Given the description of an element on the screen output the (x, y) to click on. 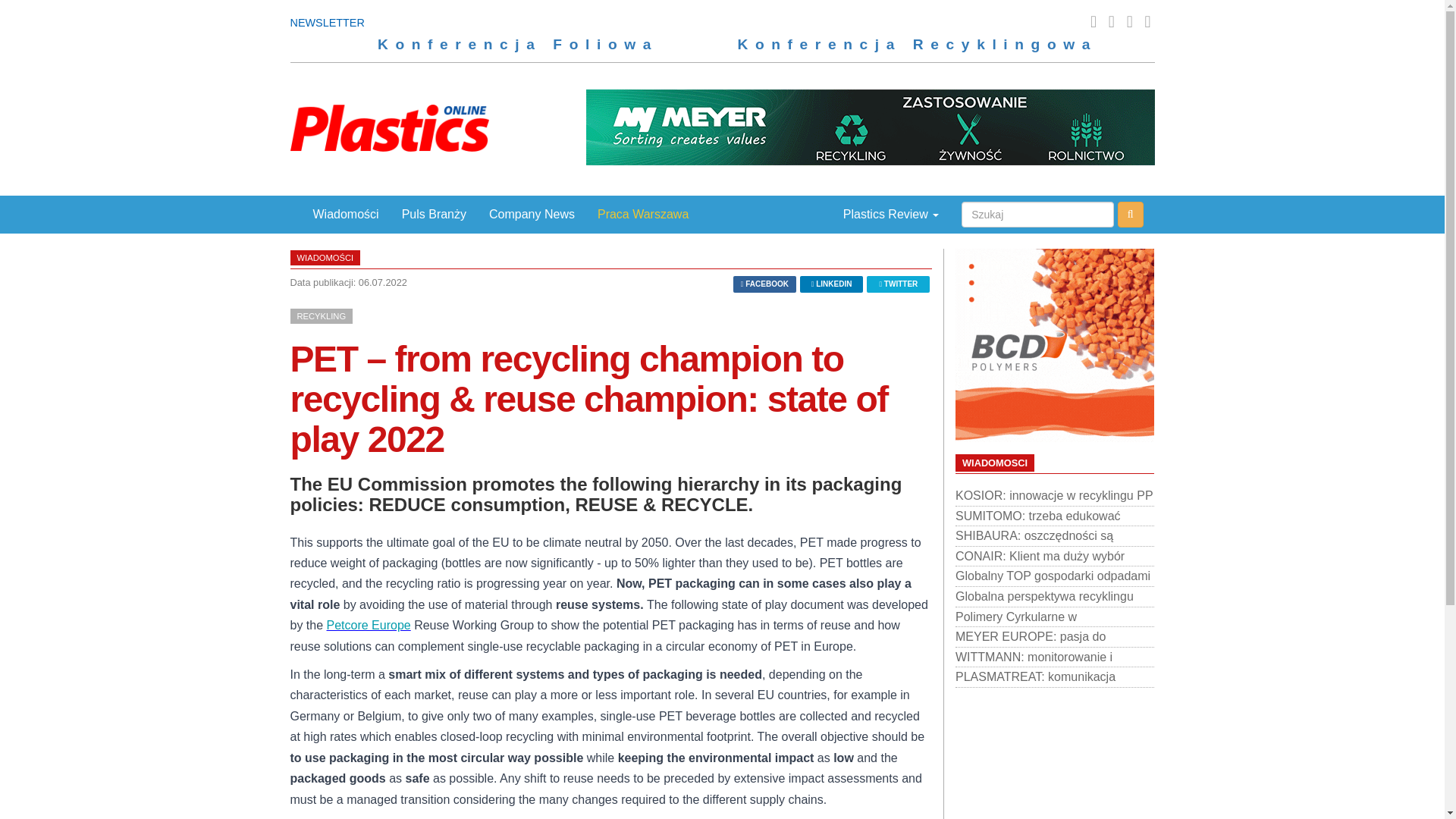
Praca Warszawa (643, 214)
NEWSLETTER (326, 22)
Company News (531, 214)
mey (869, 127)
Konferencja Recyklingowa (911, 44)
Konferencja Foliowa (512, 44)
Plastics Review (879, 214)
